Given the description of an element on the screen output the (x, y) to click on. 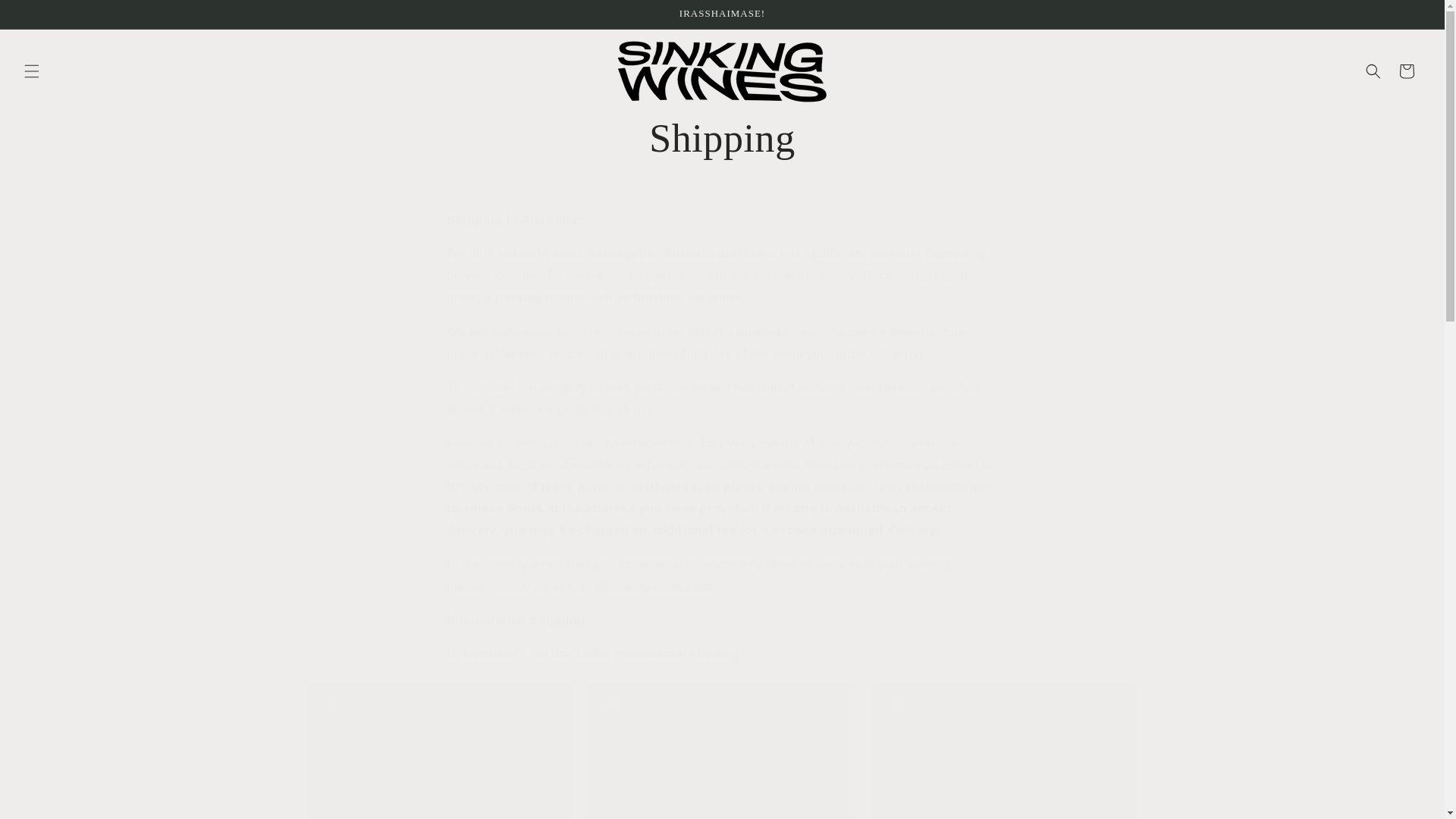
Cart (1406, 70)
Skip to content (45, 17)
Shipping (721, 138)
